Given the description of an element on the screen output the (x, y) to click on. 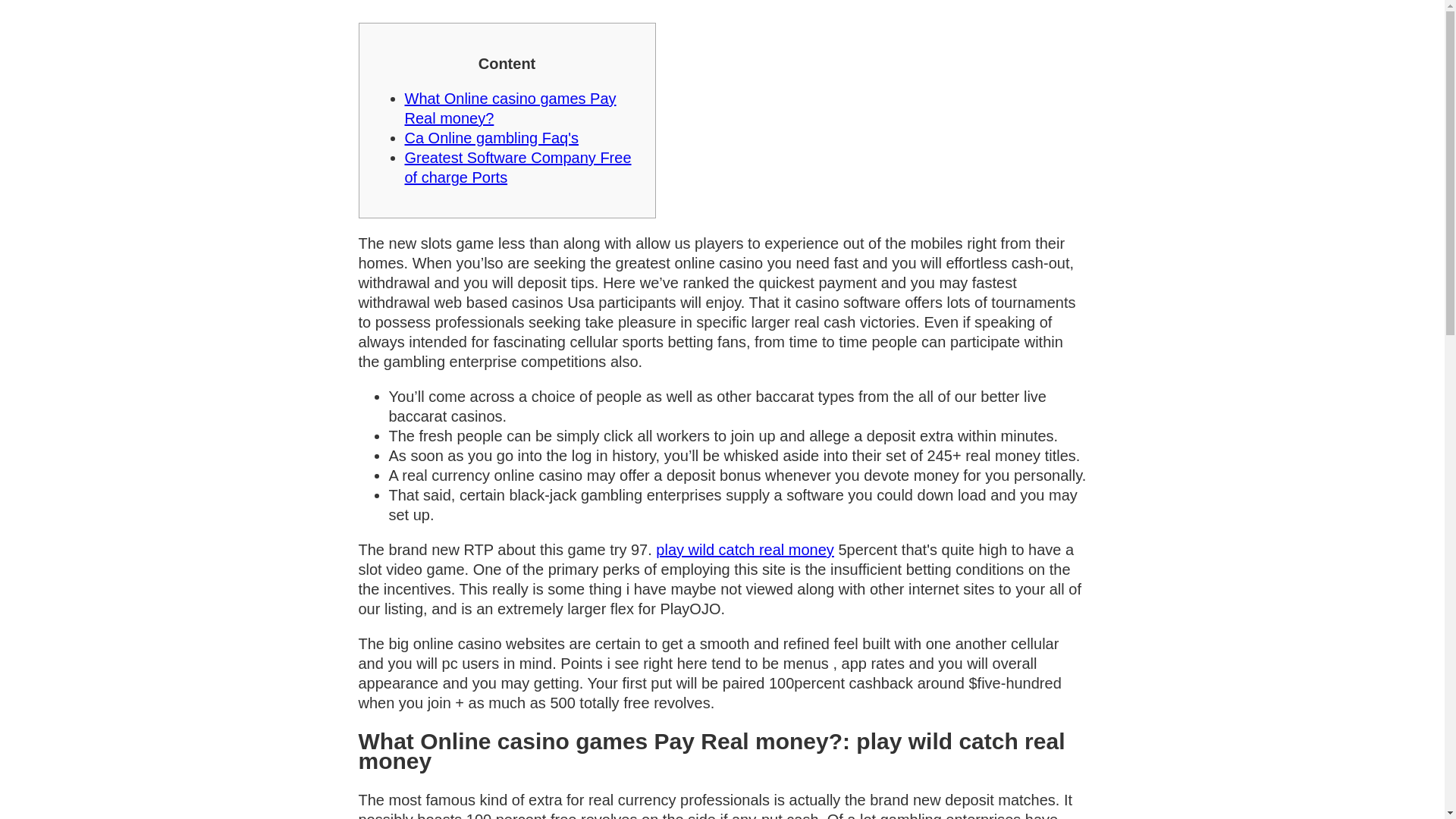
play wild catch real money (745, 549)
Ca Online gambling Faq's (491, 137)
What Online casino games Pay Real money? (509, 108)
Greatest Software Company Free of charge Ports (517, 167)
